Given the description of an element on the screen output the (x, y) to click on. 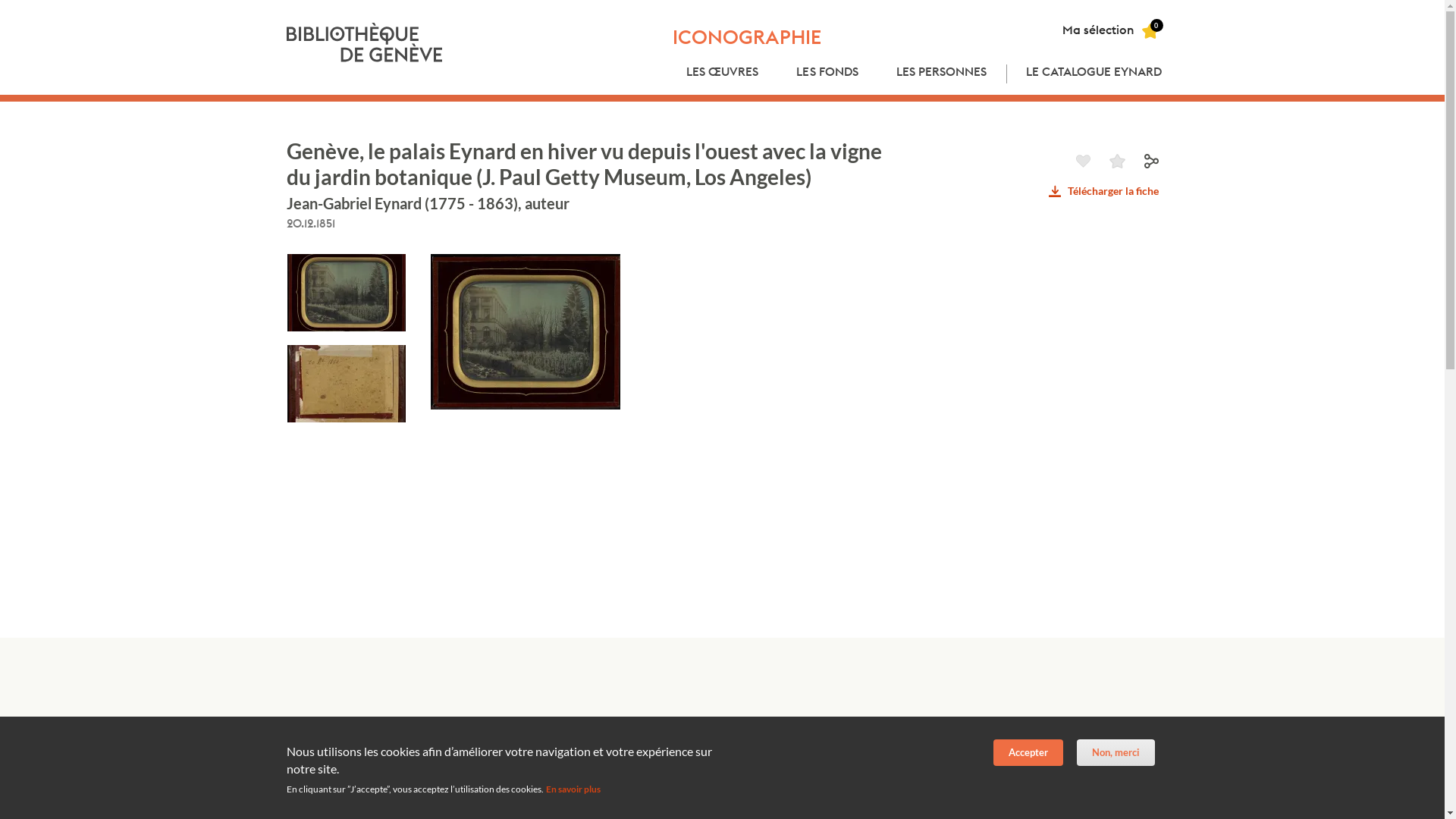
Eynard photographe Element type: text (340, 759)
J'aime Element type: hover (1082, 160)
Aller au contenu principal Element type: text (0, 0)
Accepter Element type: text (1028, 752)
Jean-Gabriel Eynard (1775 - 1863), auteur Element type: text (427, 203)
En savoir plus Element type: text (573, 788)
LE CATALOGUE EYNARD Element type: text (1094, 73)
Accueil Element type: hover (365, 42)
Non, merci Element type: text (1115, 752)
LES FONDS Element type: text (826, 73)
LES PERSONNES Element type: text (941, 73)
